Given the description of an element on the screen output the (x, y) to click on. 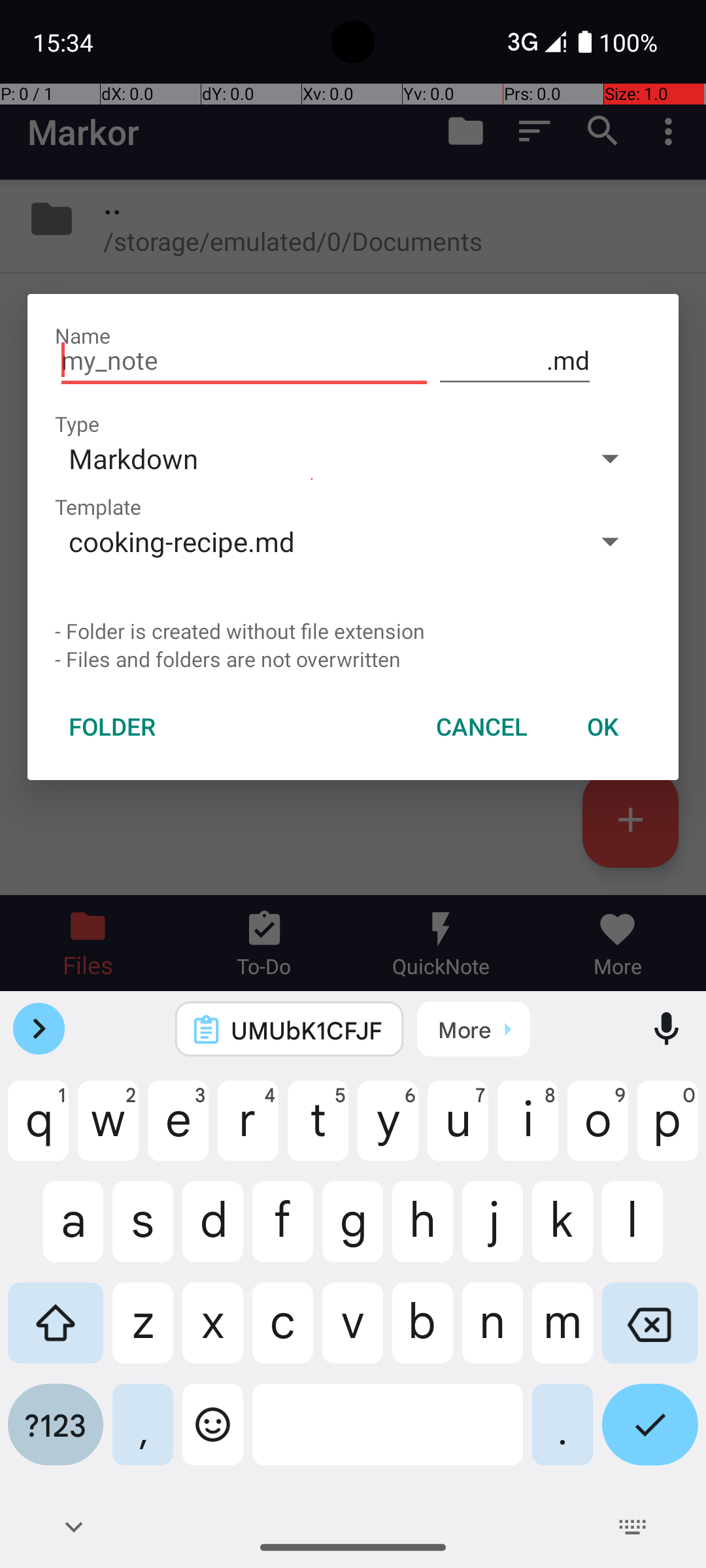
my_note Element type: android.widget.EditText (243, 360)
.md Element type: android.widget.EditText (514, 360)
cooking-recipe.md Element type: android.widget.TextView (311, 540)
UMUbK1CFJF Element type: android.widget.TextView (306, 1029)
